Given the description of an element on the screen output the (x, y) to click on. 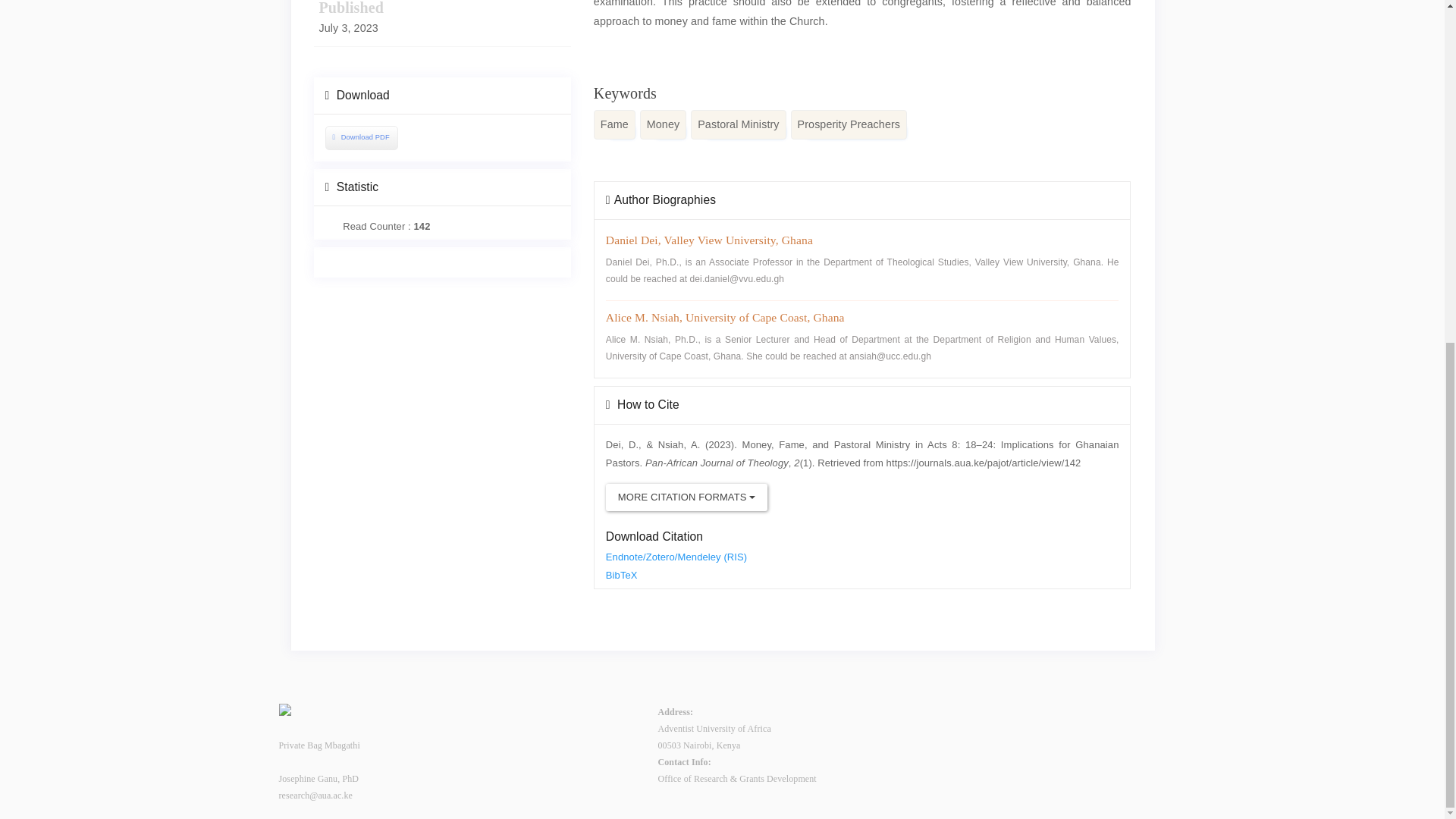
Download PDF (360, 137)
MORE CITATION FORMATS (686, 497)
Download on article page (359, 136)
